Given the description of an element on the screen output the (x, y) to click on. 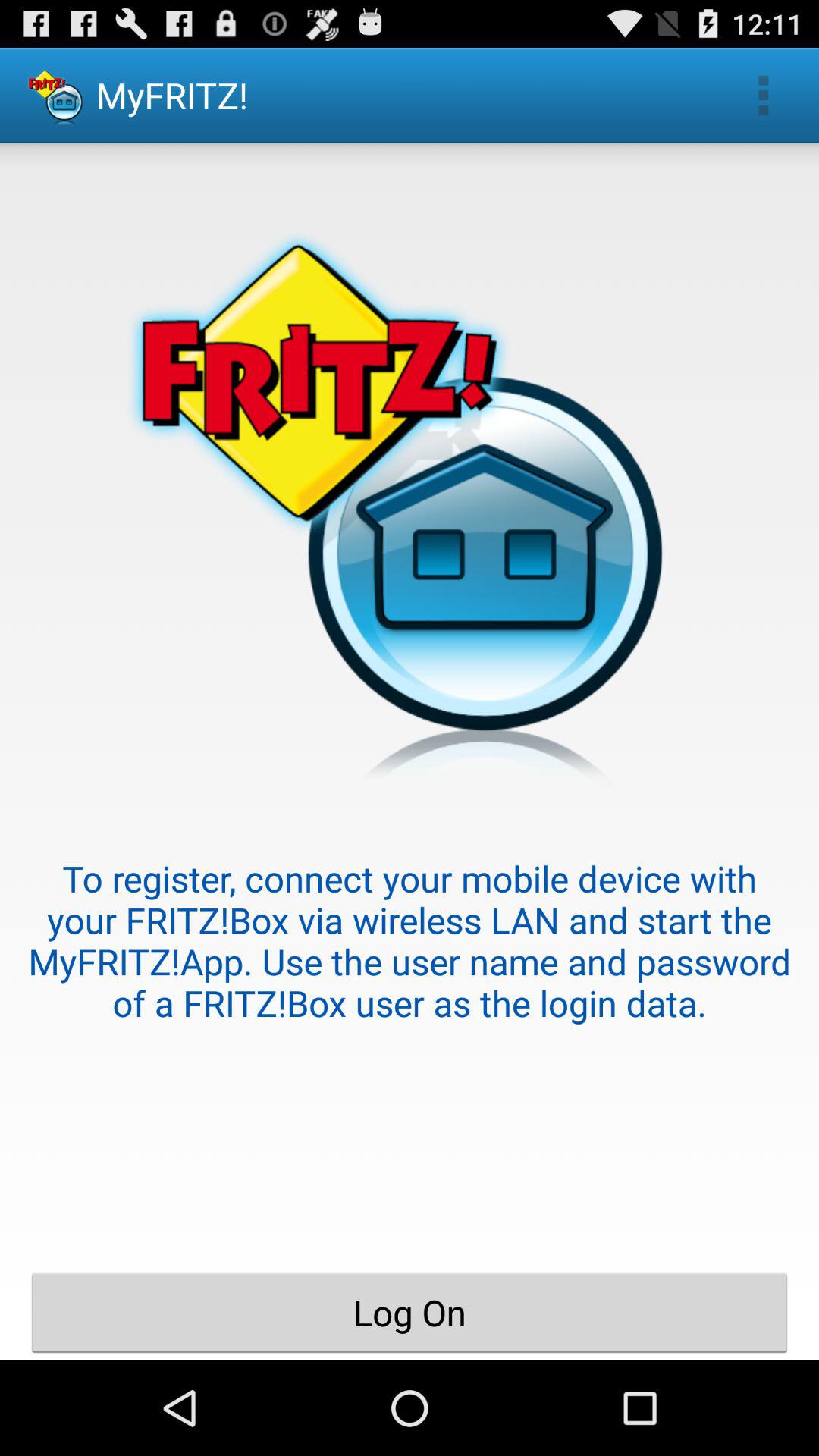
turn on item at the top right corner (763, 95)
